Given the description of an element on the screen output the (x, y) to click on. 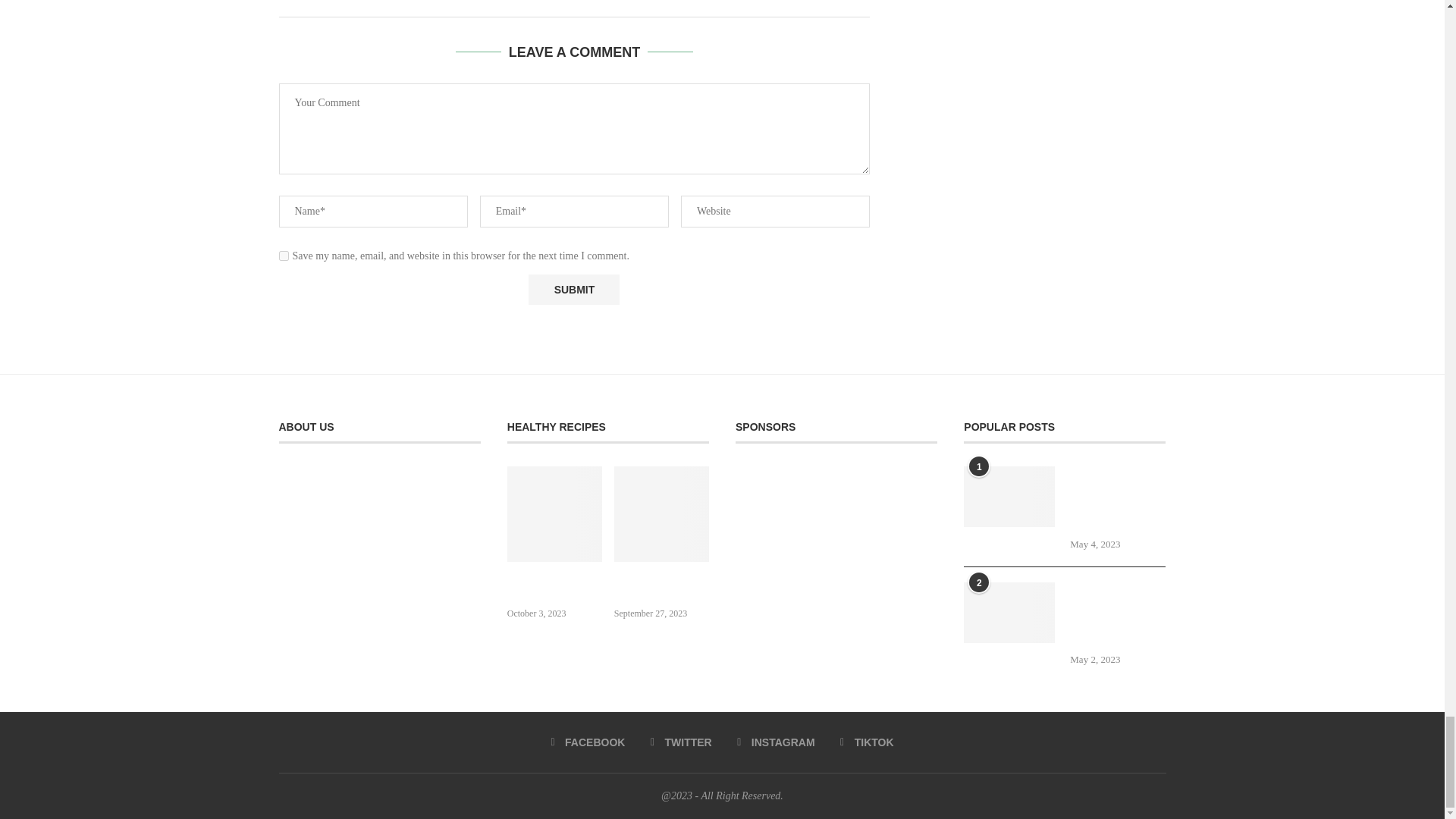
yes (283, 255)
Submit (574, 289)
